Given the description of an element on the screen output the (x, y) to click on. 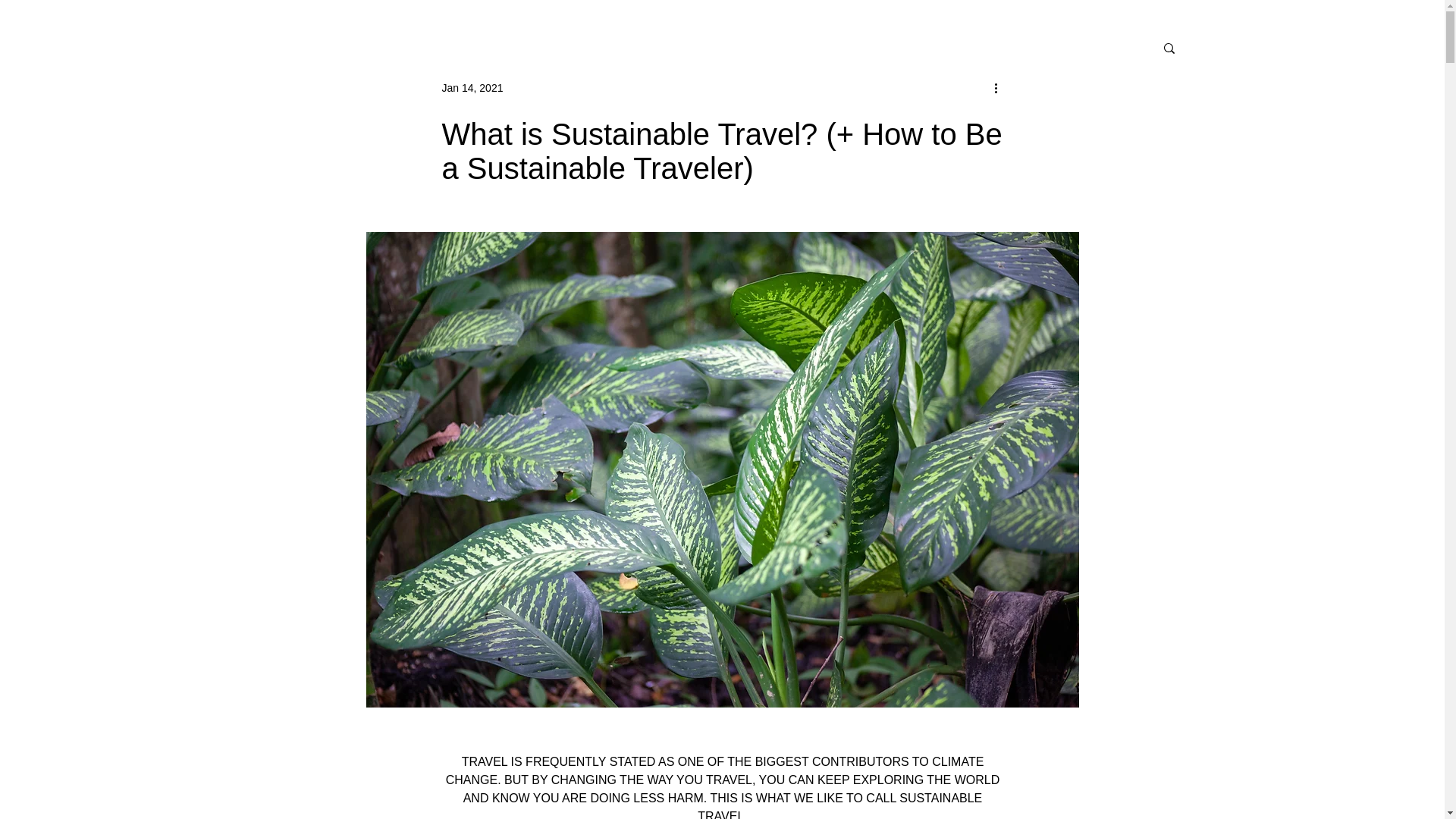
BLOG (521, 51)
madalyne loree (419, 39)
ABOUT (705, 51)
DESTINATIONS (616, 51)
Jan 14, 2021 (611, 51)
